Given the description of an element on the screen output the (x, y) to click on. 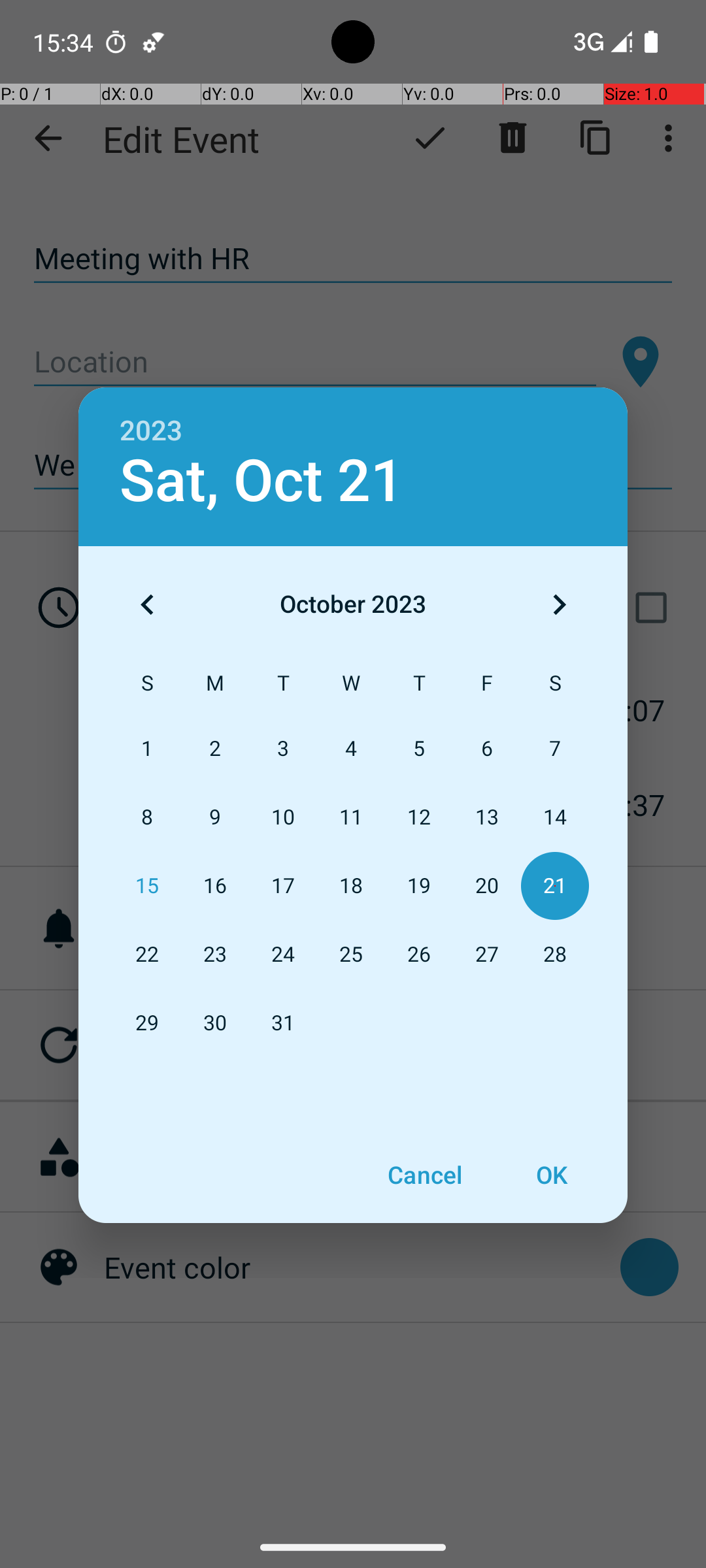
Sat, Oct 21 Element type: android.widget.TextView (261, 480)
